Given the description of an element on the screen output the (x, y) to click on. 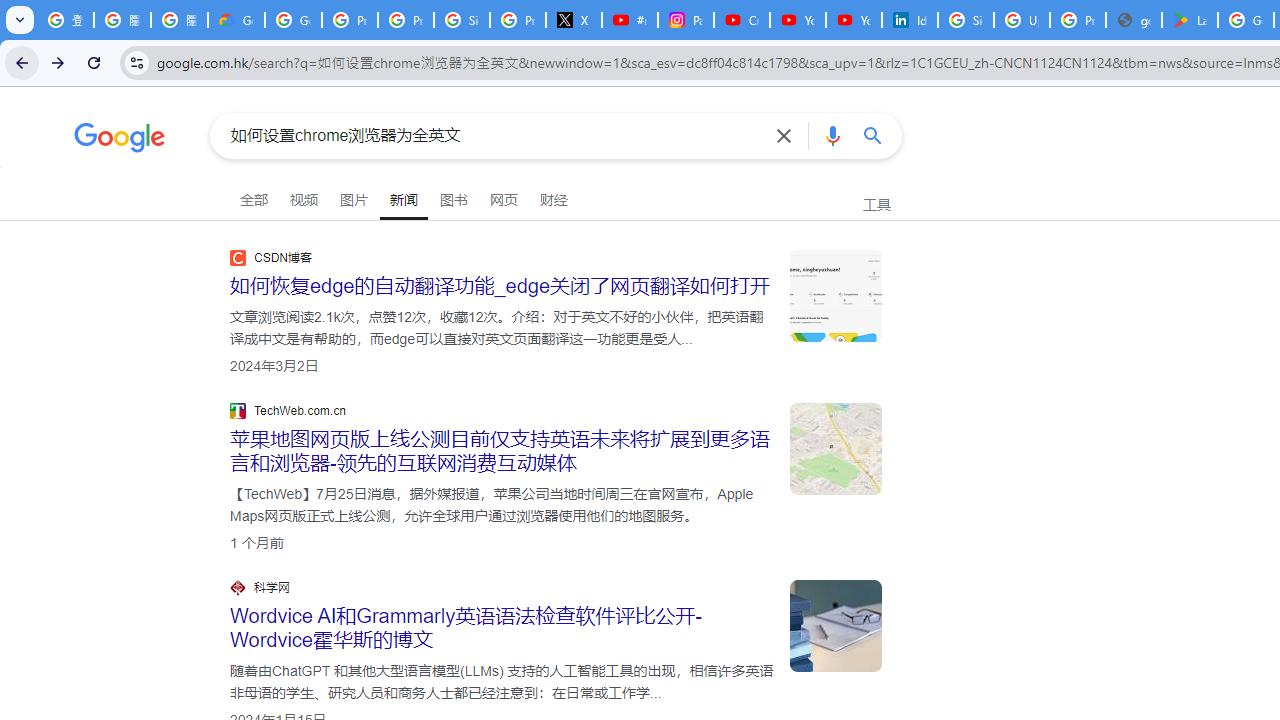
Privacy Help Center - Policies Help (405, 20)
X (573, 20)
Google Cloud Privacy Notice (235, 20)
